Given the description of an element on the screen output the (x, y) to click on. 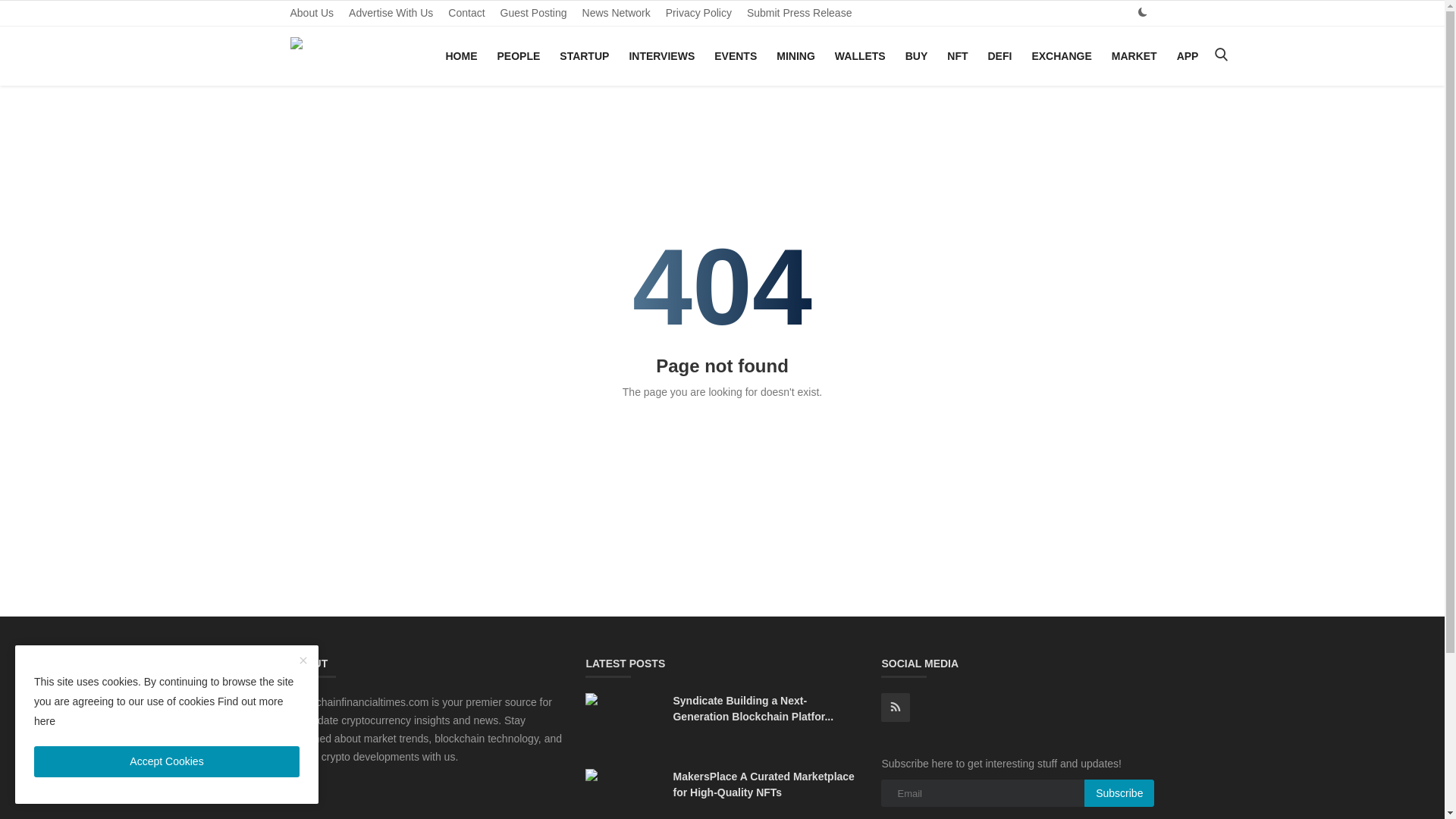
MINING (795, 55)
dark (1141, 12)
About Us (311, 13)
Submit Press Release (799, 13)
Guest Posting (534, 13)
MARKET (1133, 55)
Contact (466, 13)
WALLETS (860, 55)
EVENTS (735, 55)
INTERVIEWS (661, 55)
